Given the description of an element on the screen output the (x, y) to click on. 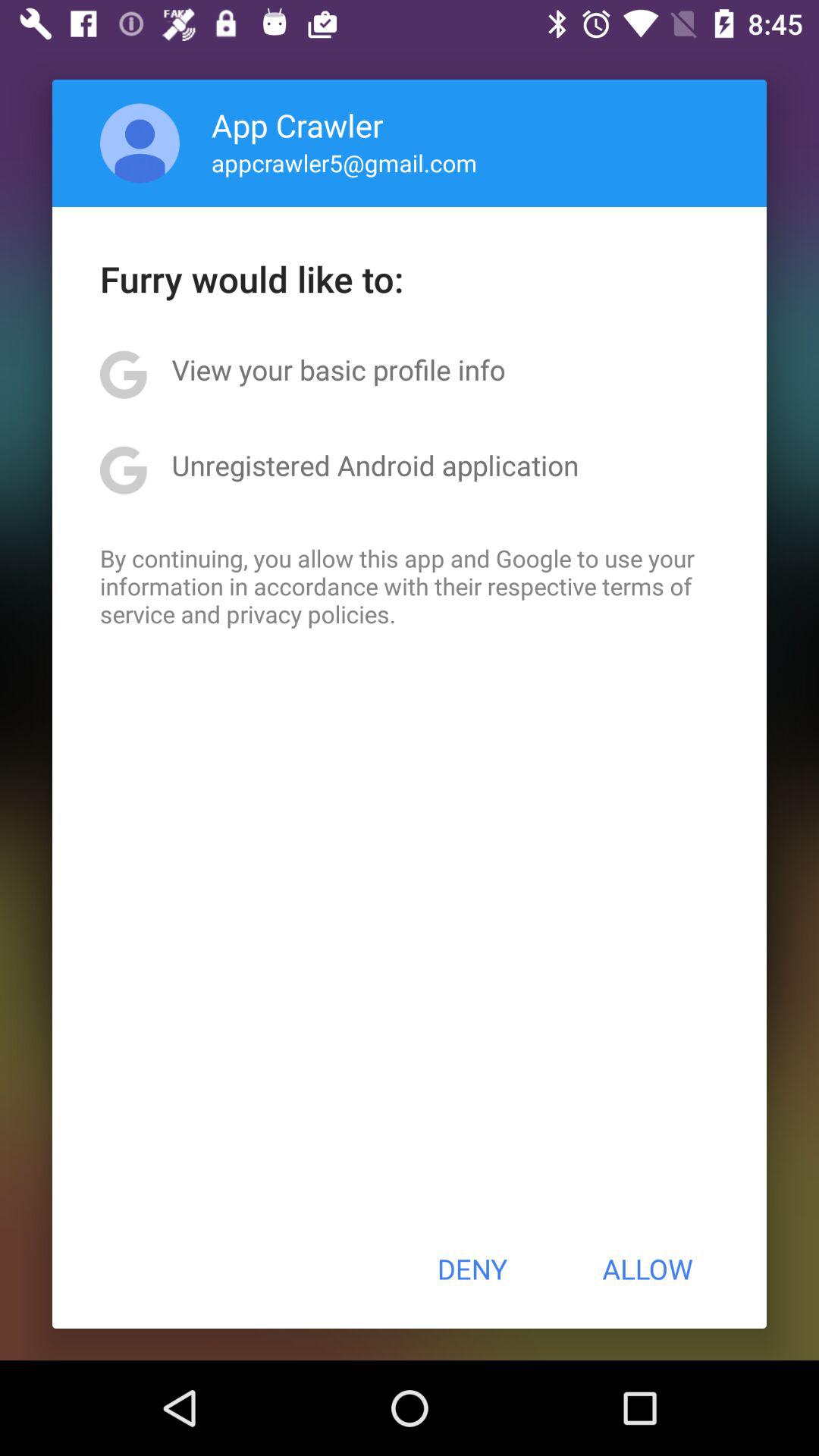
open the item below by continuing you icon (471, 1268)
